Given the description of an element on the screen output the (x, y) to click on. 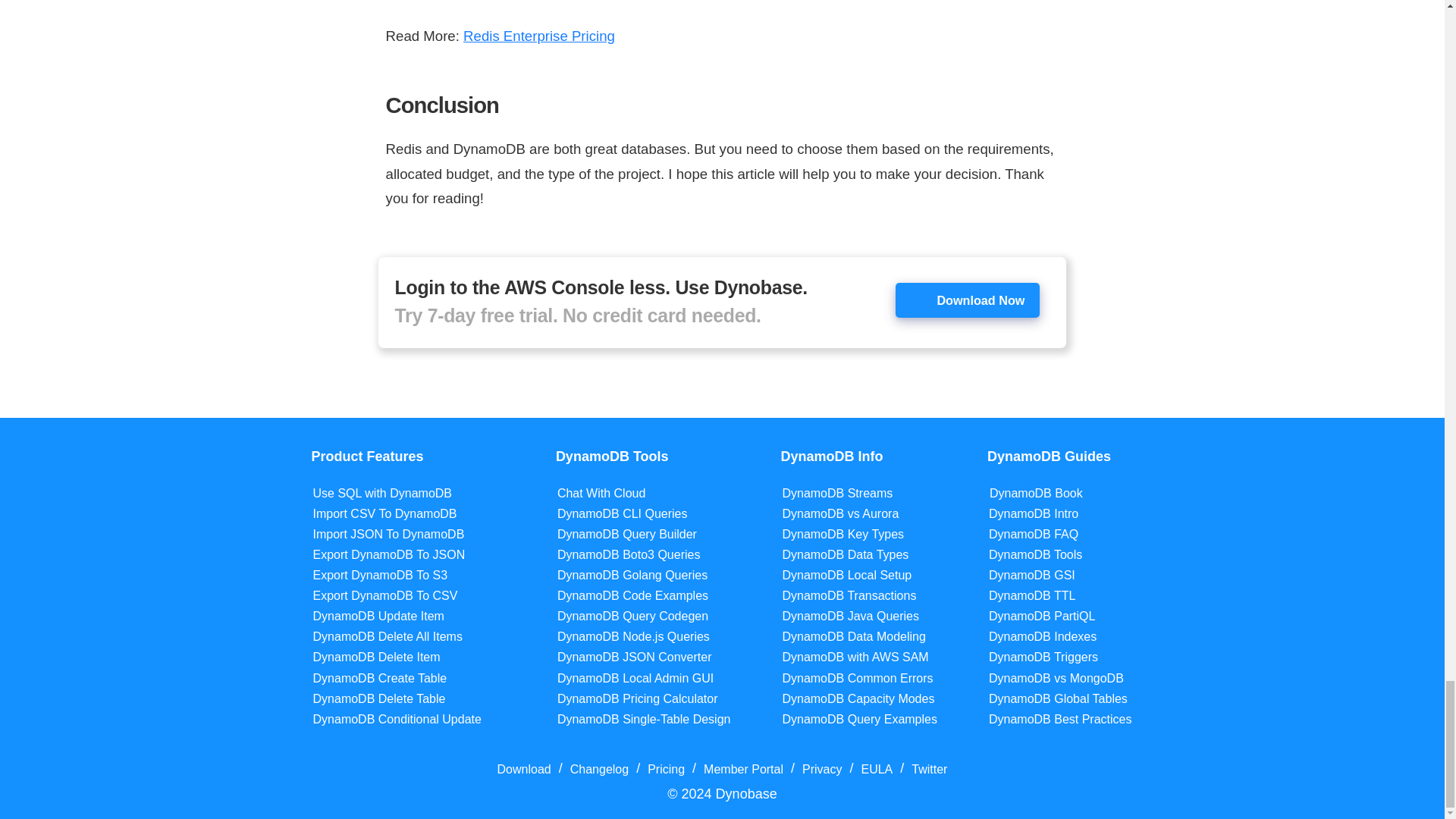
Use SQL with DynamoDB (381, 493)
DynamoDB Delete All Items (387, 636)
DynamoDB Golang Queries (632, 575)
DynamoDB Node.js Queries (633, 636)
DynamoDB Delete Table (378, 698)
Chat With Cloud (601, 493)
DynamoDB Create Table (379, 678)
Download Now (967, 299)
DynamoDB Delete Item (376, 657)
DynamoDB JSON Converter (634, 657)
DynamoDB Pricing Calculator (637, 698)
Download Now (968, 300)
Import CSV To DynamoDB (384, 513)
DynamoDB Query Builder (627, 534)
Redis Enterprise Pricing (538, 35)
